Given the description of an element on the screen output the (x, y) to click on. 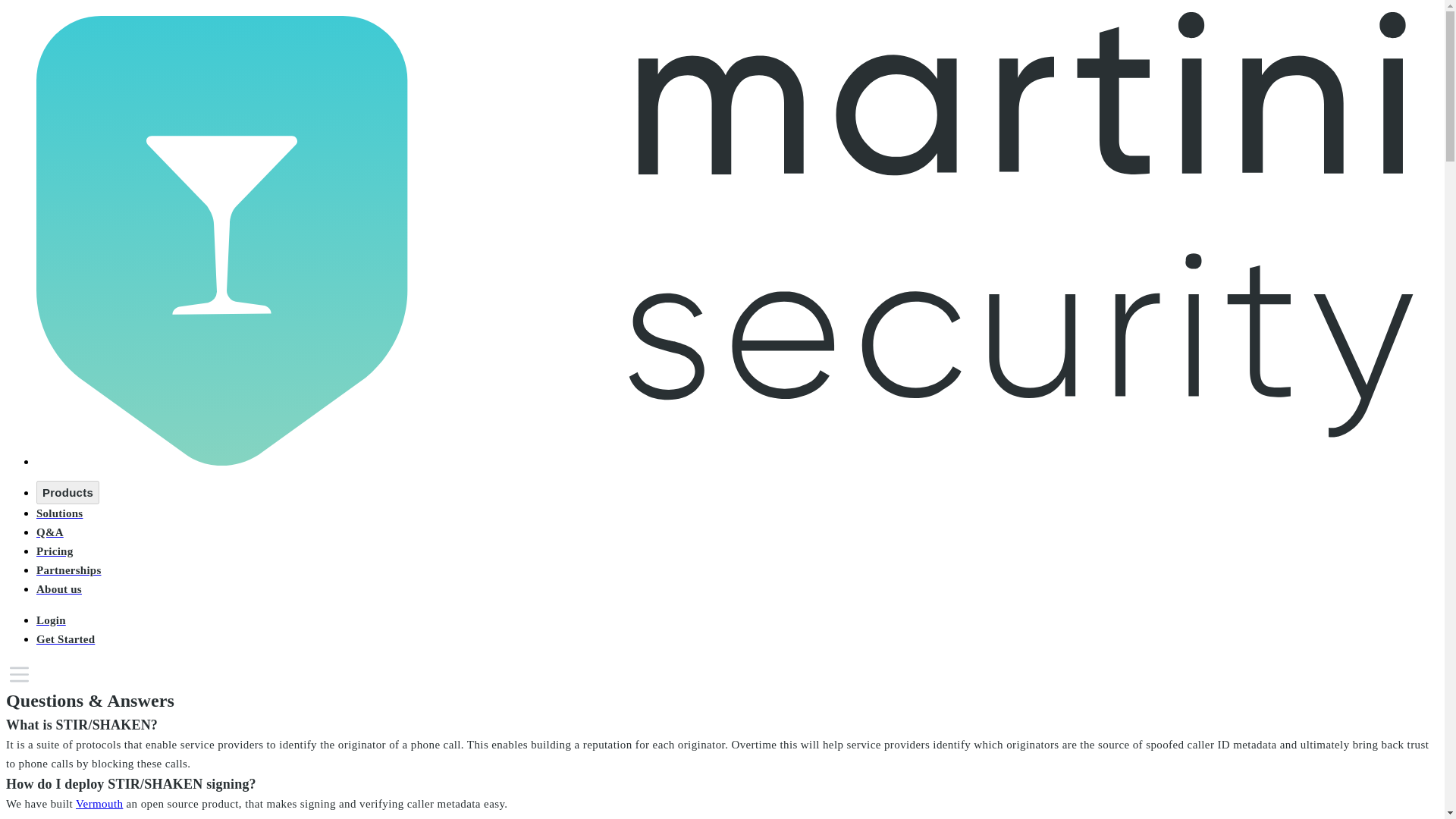
Login (50, 619)
About us (58, 588)
Pricing (54, 550)
Solutions (59, 512)
Partnerships (68, 569)
Products (67, 492)
Get Started (65, 638)
Vermouth (98, 803)
